Given the description of an element on the screen output the (x, y) to click on. 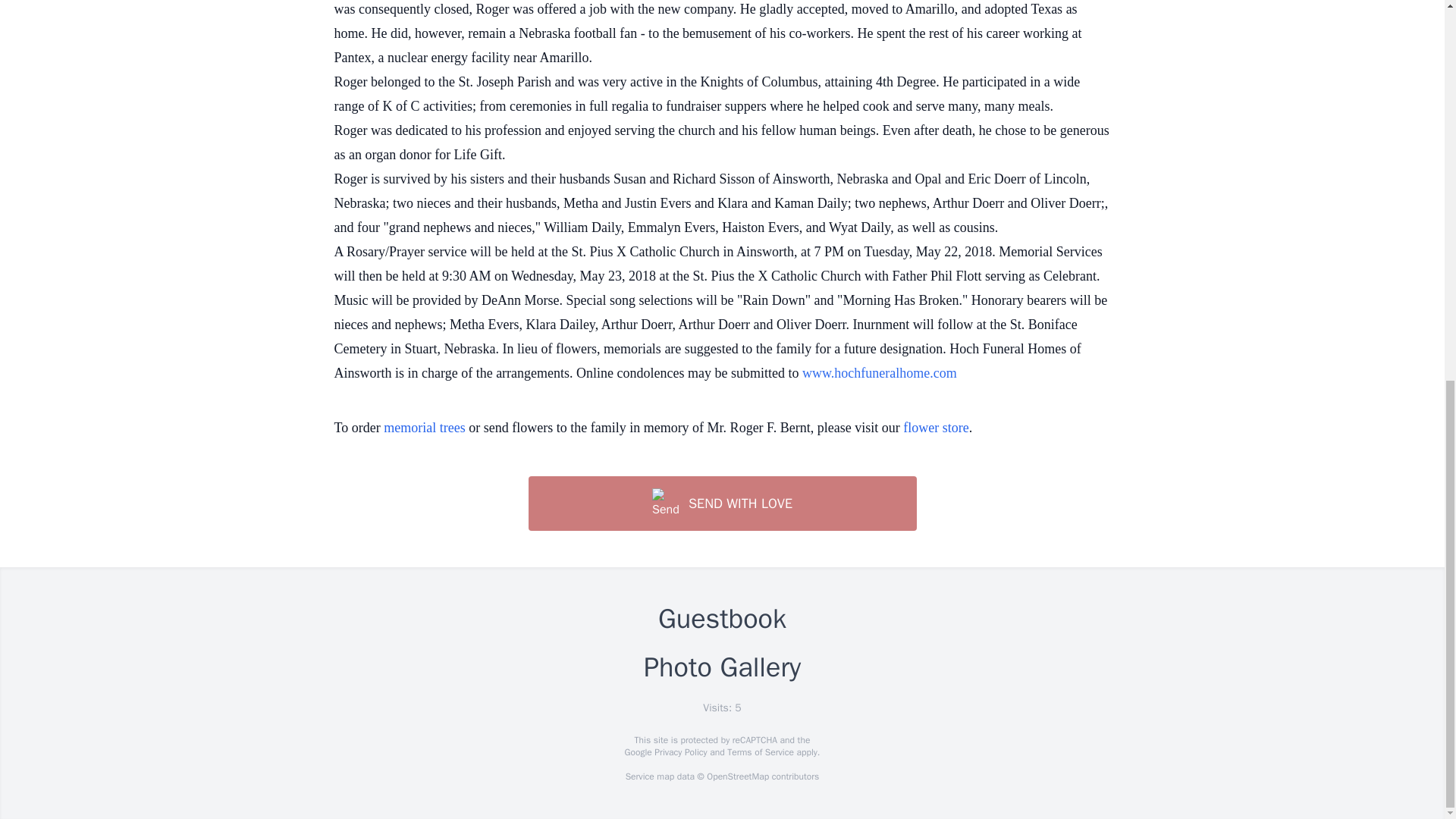
Terms of Service (759, 752)
flower store (935, 427)
memorial trees (424, 427)
SEND WITH LOVE (721, 502)
OpenStreetMap (737, 776)
www.hochfuneralhome.com (879, 372)
Click to open in a new window or tab (879, 372)
Privacy Policy (679, 752)
